Given the description of an element on the screen output the (x, y) to click on. 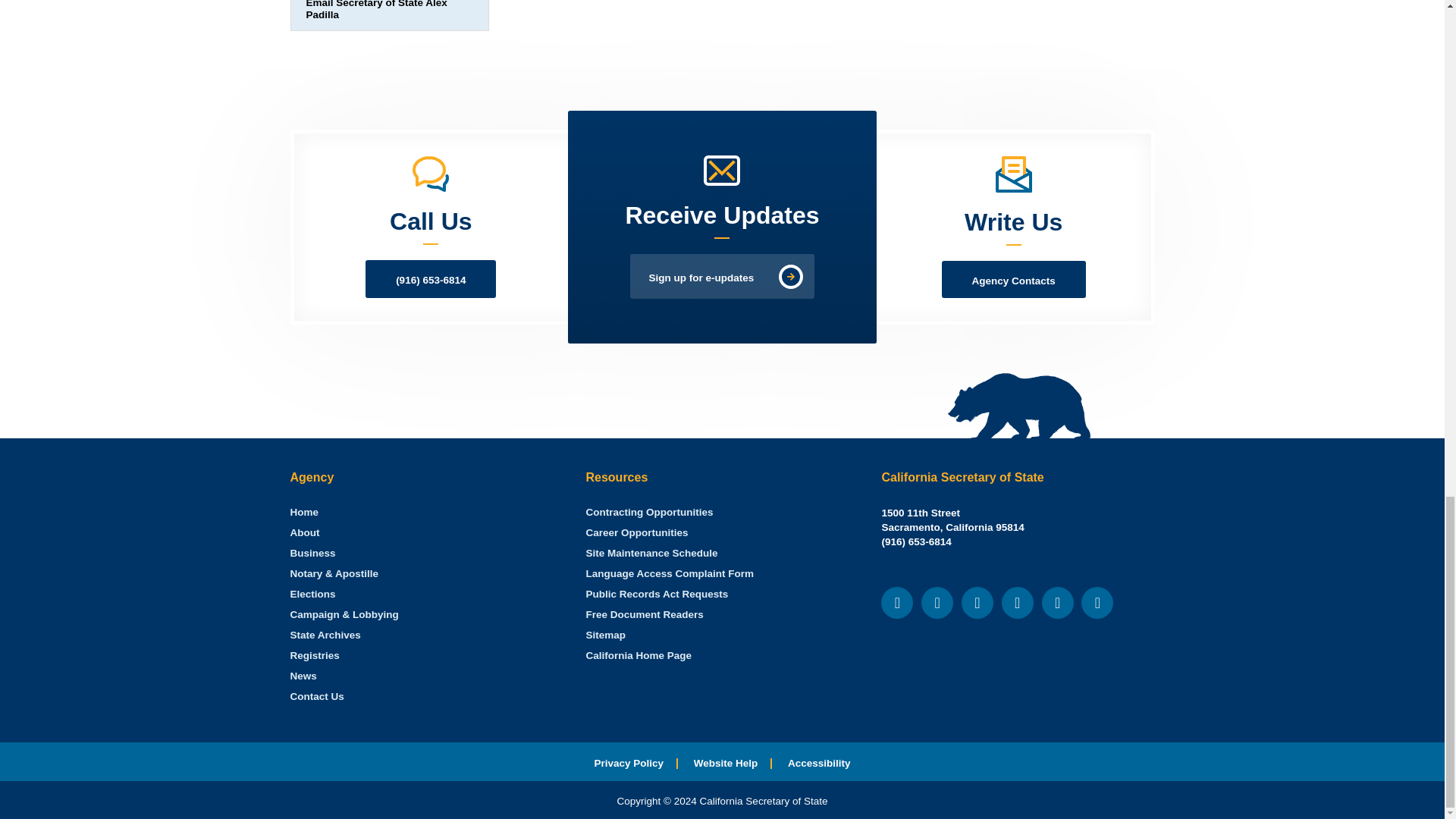
Call Our Office (915, 541)
